Given the description of an element on the screen output the (x, y) to click on. 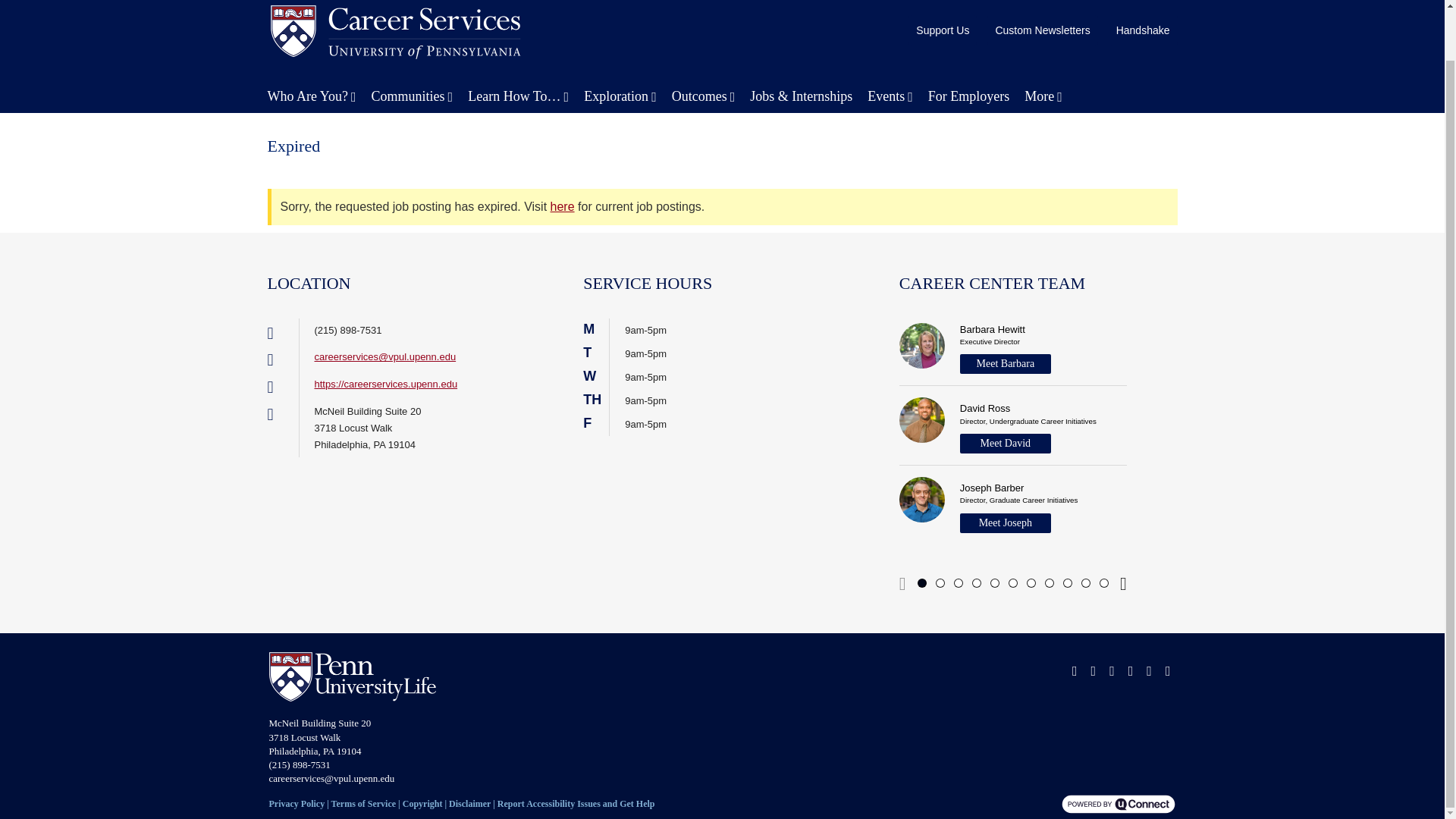
Handshake (1142, 30)
Support Us (942, 30)
Custom Newsletters (1042, 30)
Communities (412, 96)
Who Are You? (310, 96)
